Given the description of an element on the screen output the (x, y) to click on. 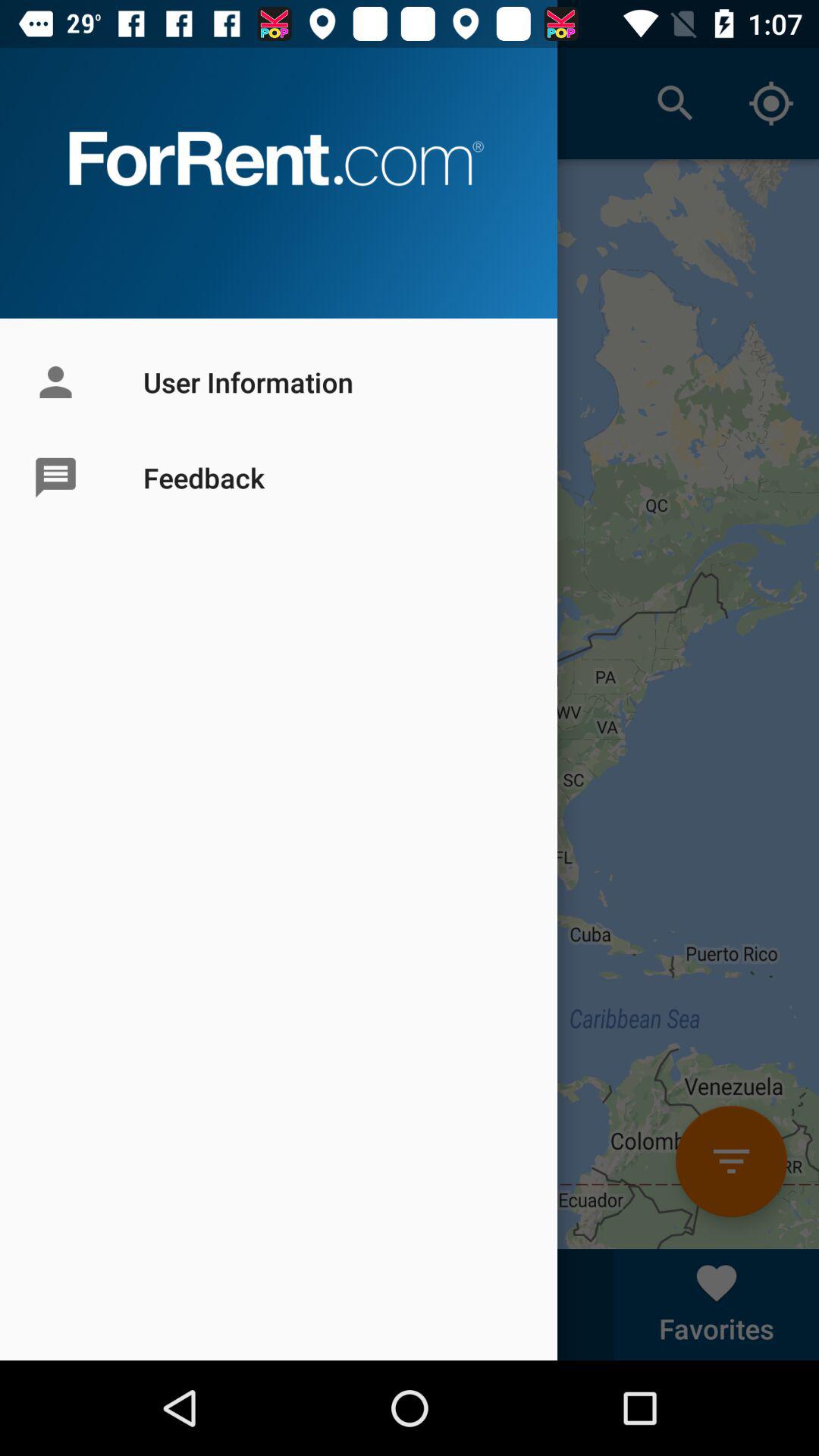
setting button (731, 1161)
